Given the description of an element on the screen output the (x, y) to click on. 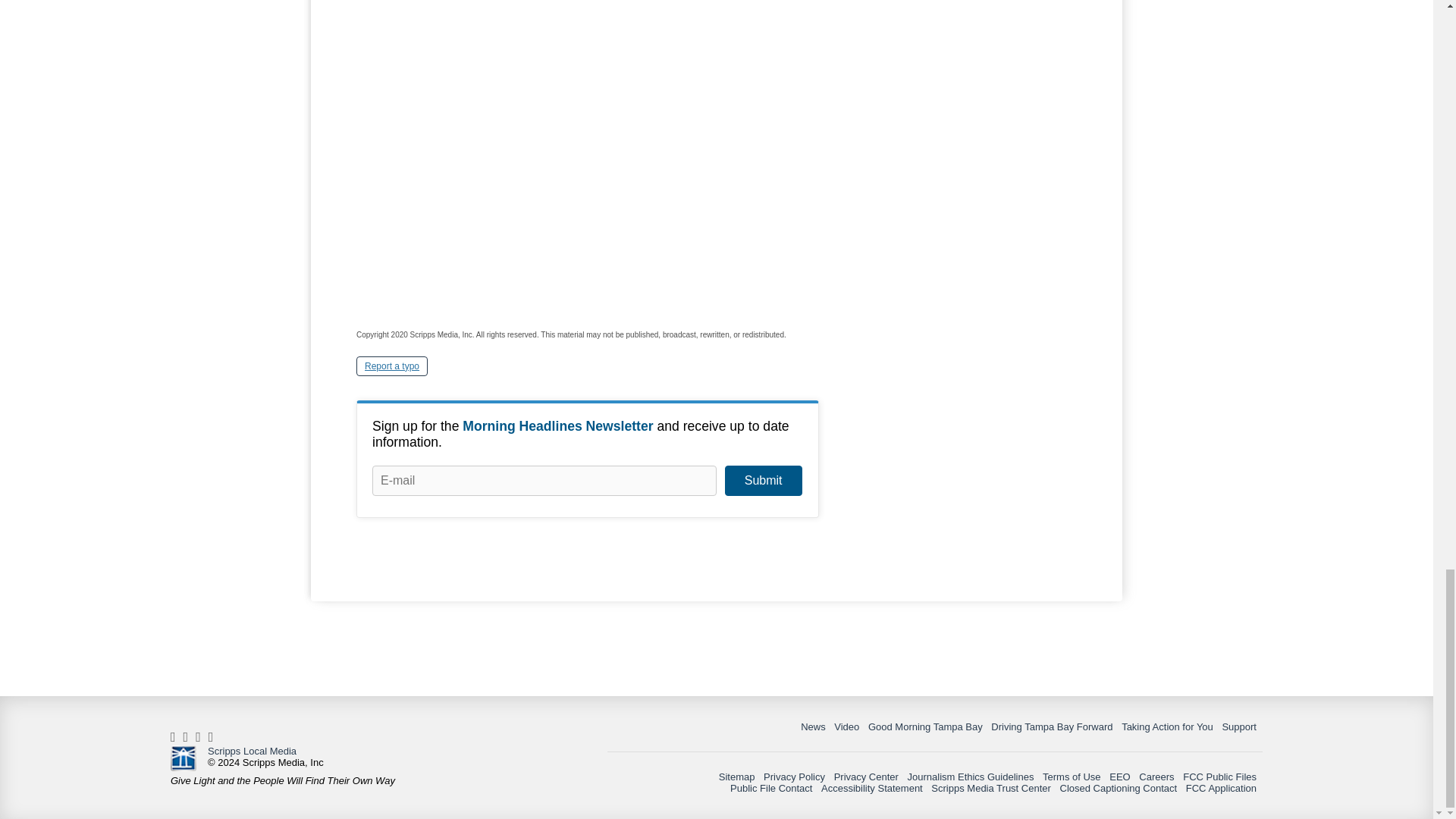
Submit (763, 481)
